Given the description of an element on the screen output the (x, y) to click on. 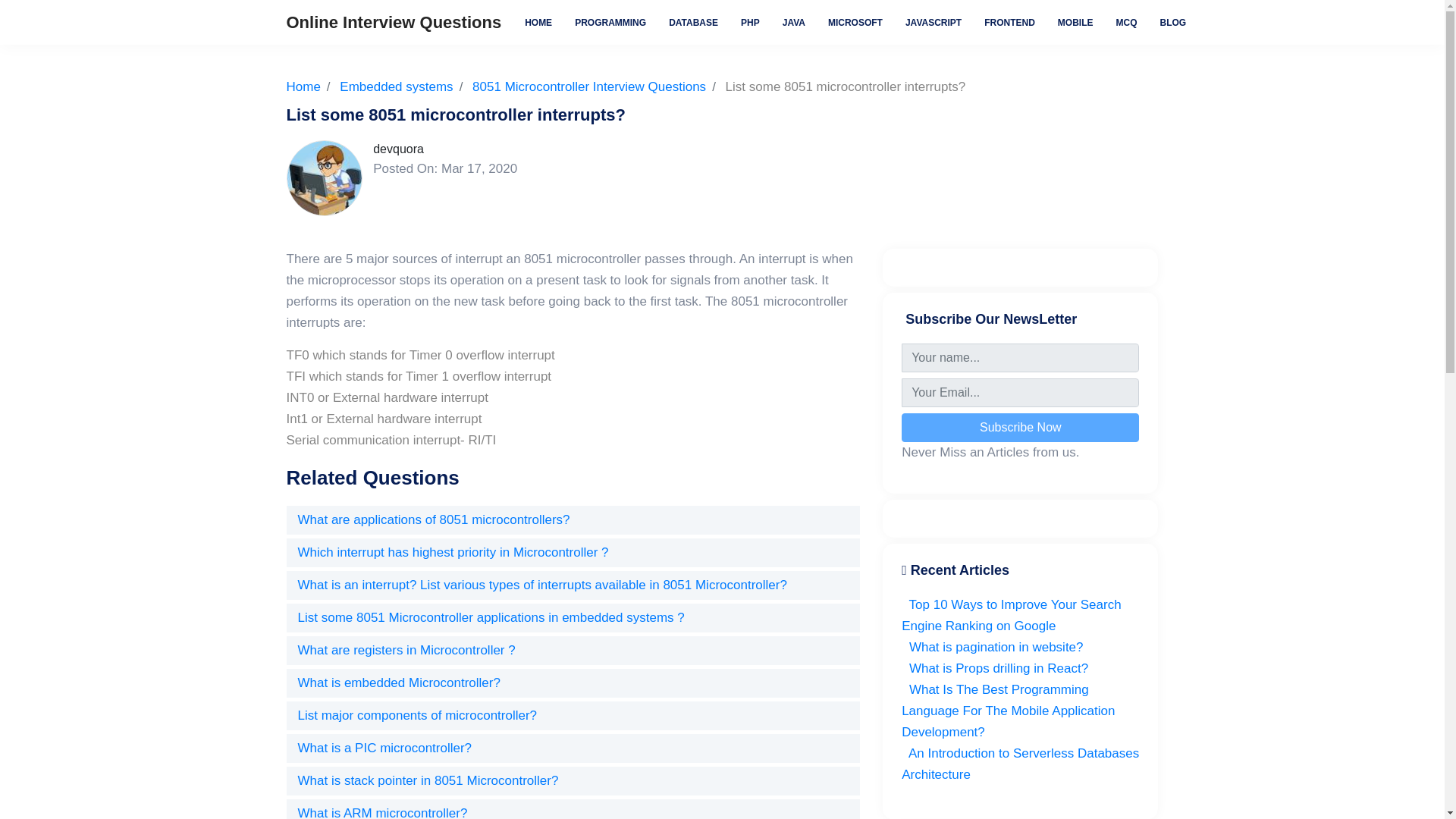
8051 Microcontroller Interview Questions (588, 86)
What is embedded Microcontroller? (398, 682)
What is pagination in website? (992, 646)
Online Interview Questions (394, 21)
MOBILE (1075, 22)
What is stack pointer in 8051 Microcontroller? (427, 780)
JAVASCRIPT (932, 22)
Which interrupt has highest priority in Microcontroller ? (452, 552)
PHP (750, 22)
What are registers in Microcontroller ? (406, 649)
